Given the description of an element on the screen output the (x, y) to click on. 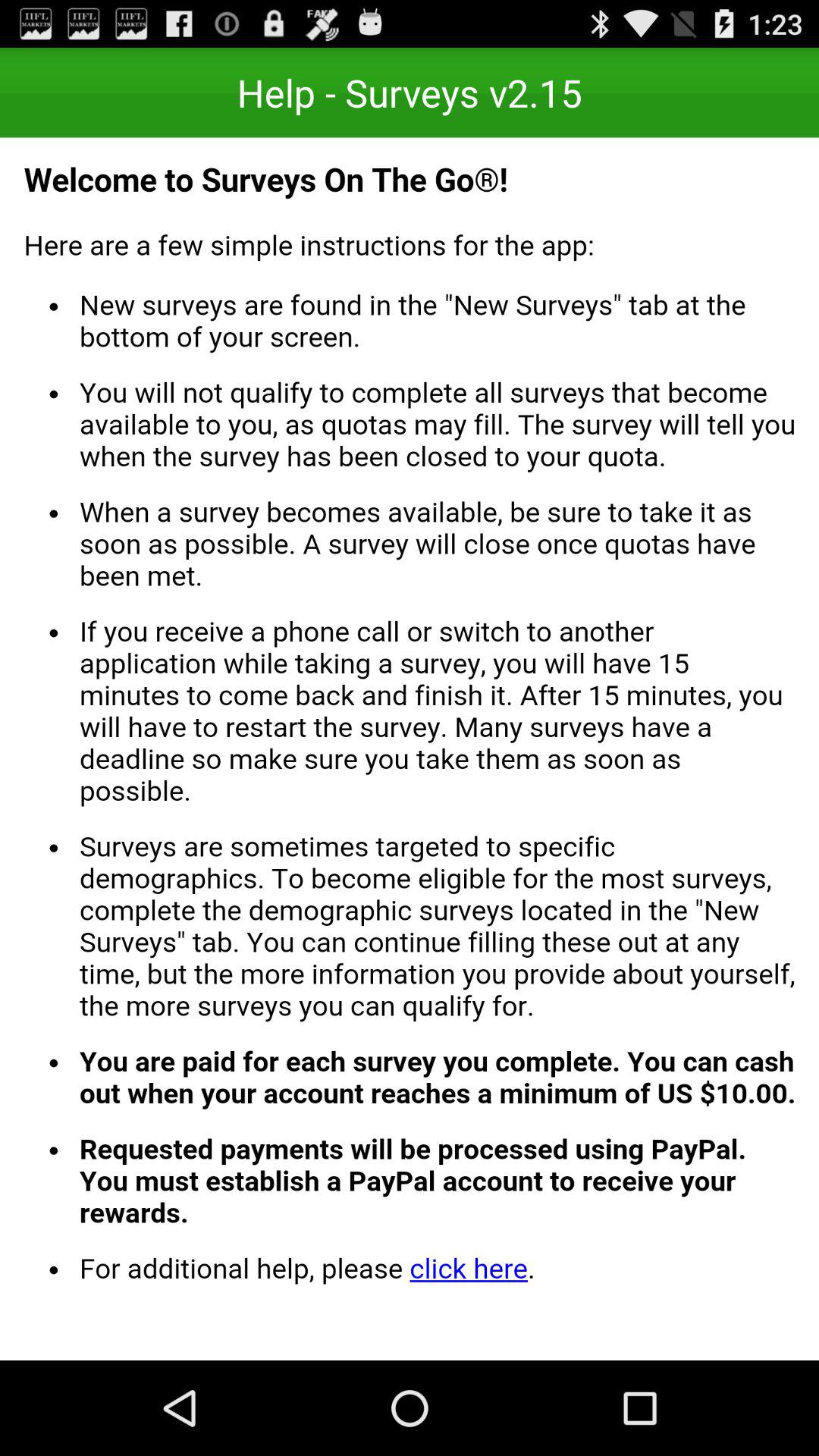
all selected content (409, 748)
